Given the description of an element on the screen output the (x, y) to click on. 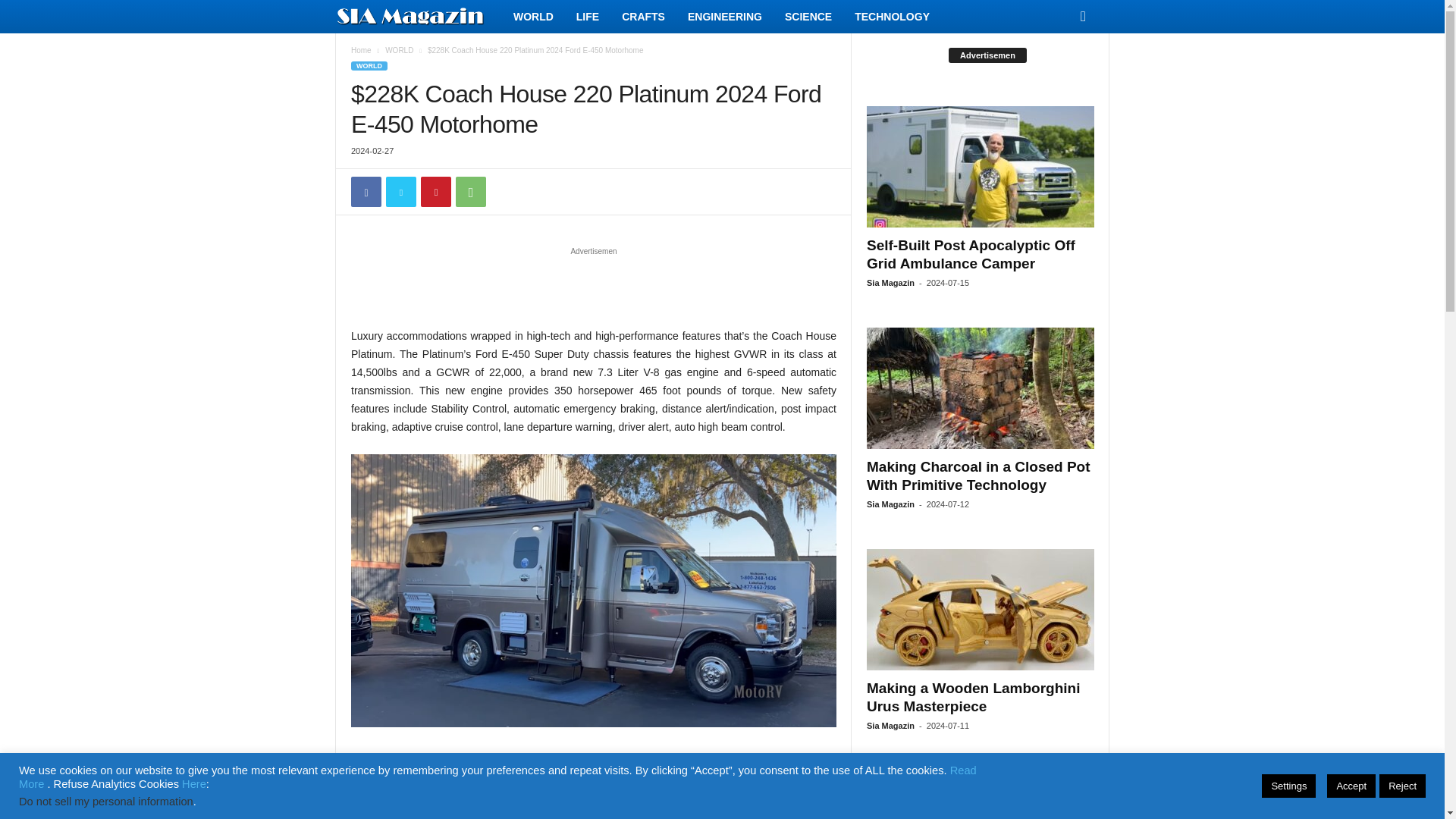
source (744, 760)
View all posts in WORLD (399, 49)
Facebook (365, 191)
Twitter (400, 191)
Home (360, 49)
CRAFTS (643, 16)
ENGINEERING (725, 16)
Advertisement (593, 287)
WORLD (368, 65)
Sia Magazin (418, 16)
LIFE (587, 16)
Pinterest (435, 191)
MotoRV (816, 760)
WORLD (533, 16)
WORLD (399, 49)
